Given the description of an element on the screen output the (x, y) to click on. 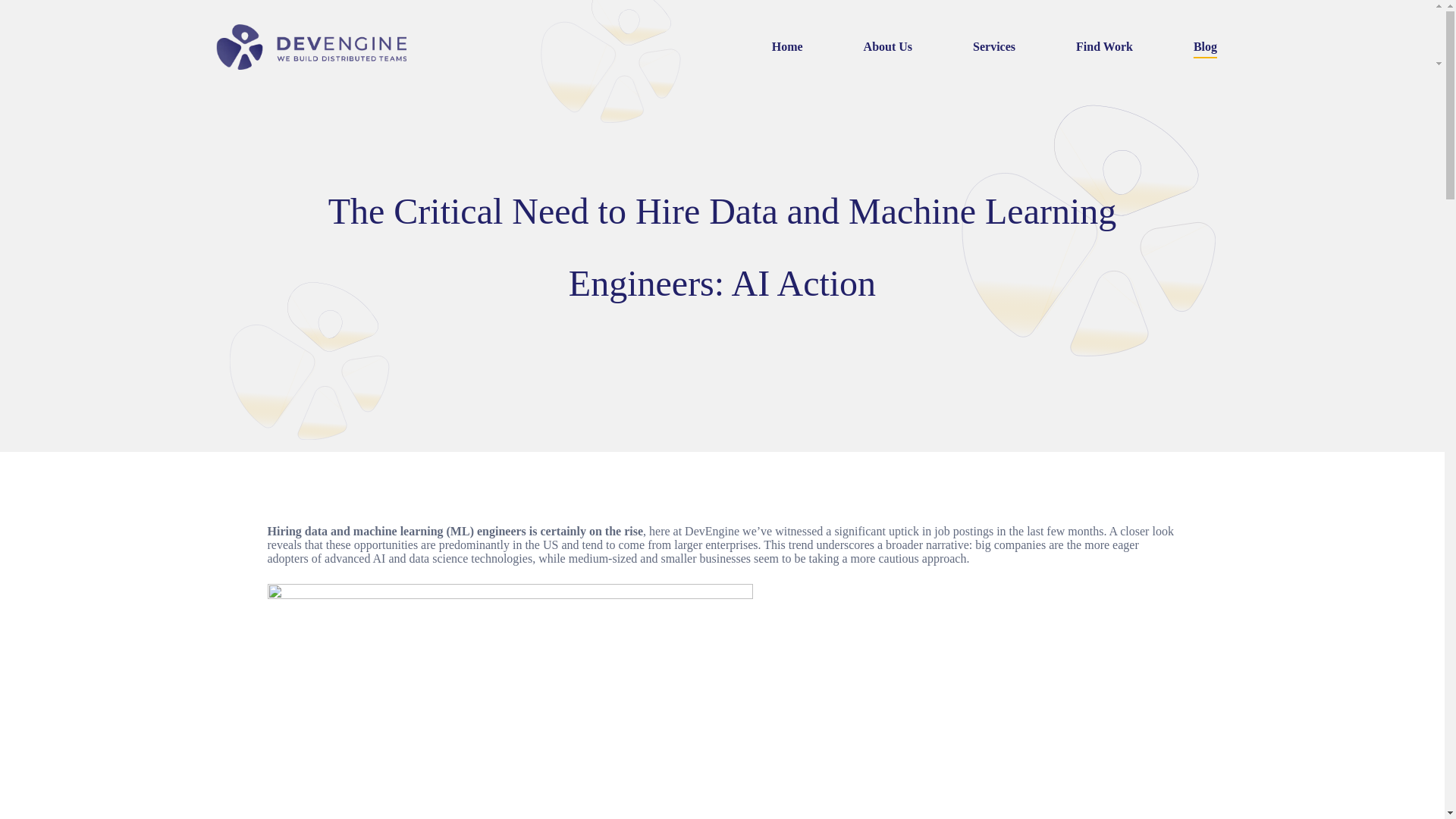
Home (787, 46)
About Us (887, 46)
Find Work (1103, 46)
Blog (1205, 46)
Services (993, 46)
